Given the description of an element on the screen output the (x, y) to click on. 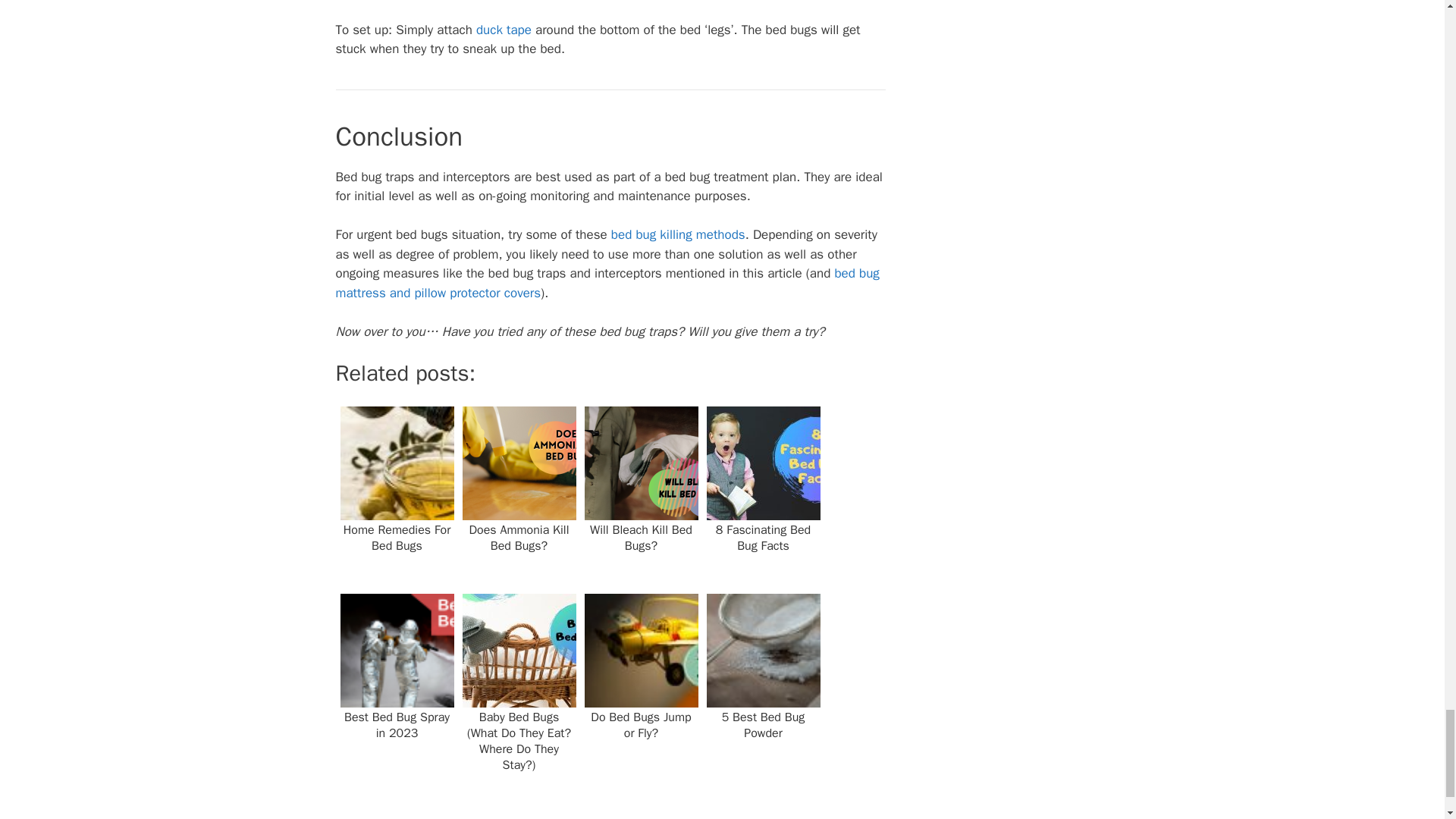
Best Bed Bug Mattress Encasement Cover (606, 283)
8 Best Bed Bug Killer 2017 (678, 234)
